Given the description of an element on the screen output the (x, y) to click on. 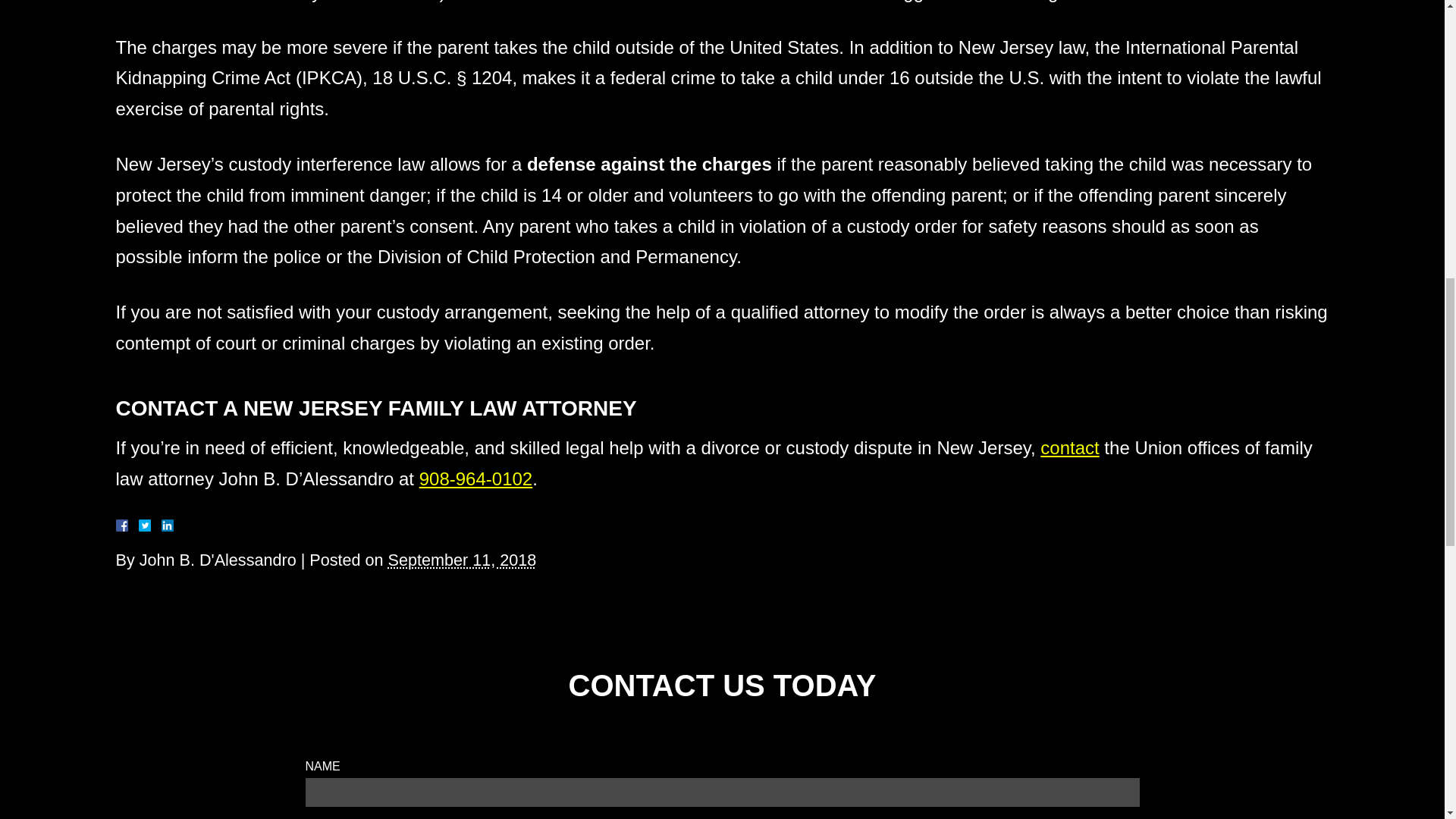
Facebook (139, 525)
Twitter (149, 525)
LinkedIn (160, 525)
2018-09-11T15:05:23-0700 (462, 559)
